Given the description of an element on the screen output the (x, y) to click on. 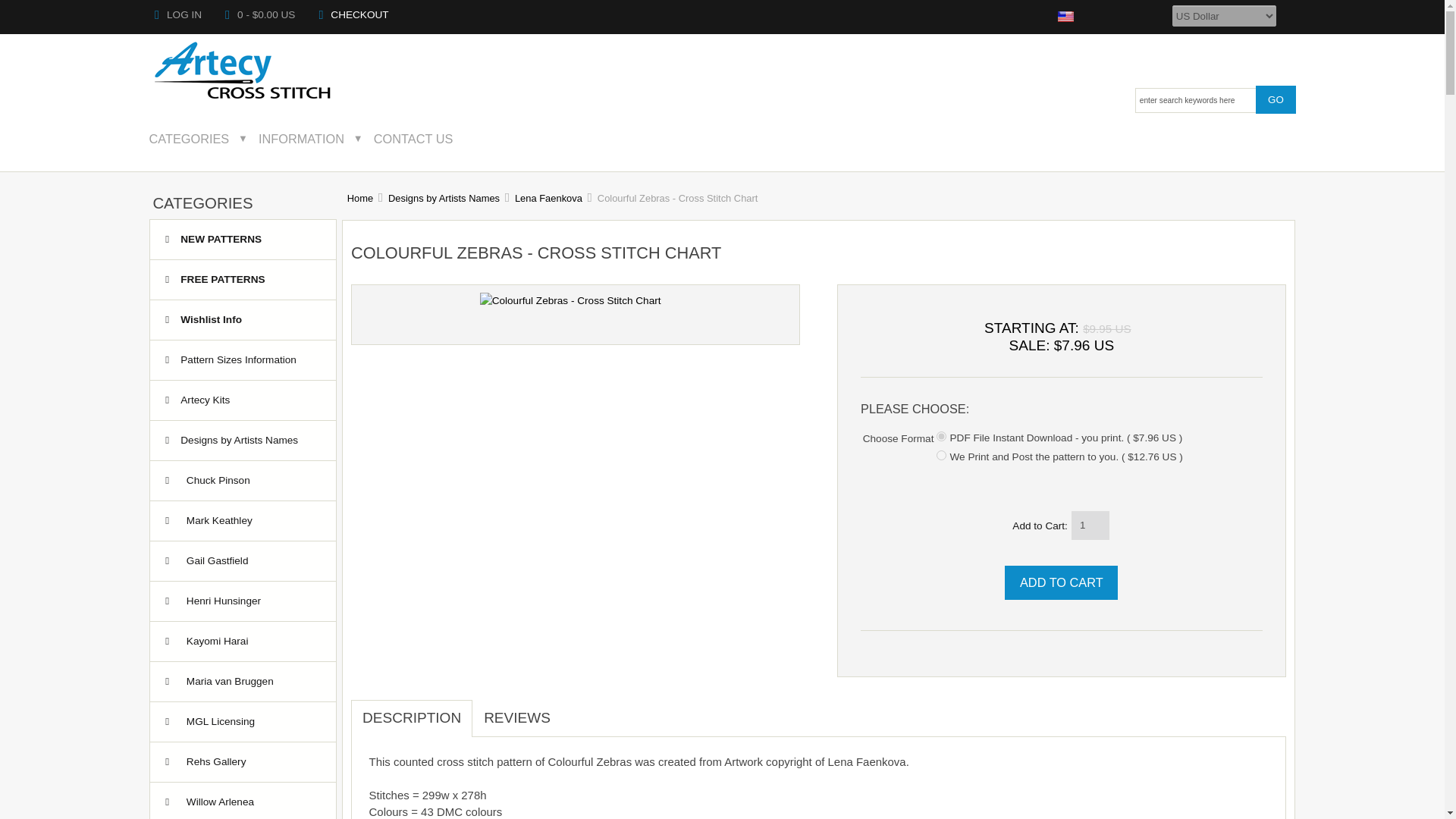
go (1275, 99)
2 (941, 455)
Colourful Zebras - Cross Stitch Chart (570, 300)
Add to Cart (1061, 582)
CHECKOUT (353, 14)
CATEGORIES (199, 138)
go (1275, 99)
Artecy Cross Stitch (243, 71)
go (1275, 99)
1 (1090, 525)
Enter search keywords here (1195, 100)
English (1066, 16)
Colourful Zebras - Cross Stitch Chart (570, 300)
1 (941, 436)
LOG IN (177, 14)
